Given the description of an element on the screen output the (x, y) to click on. 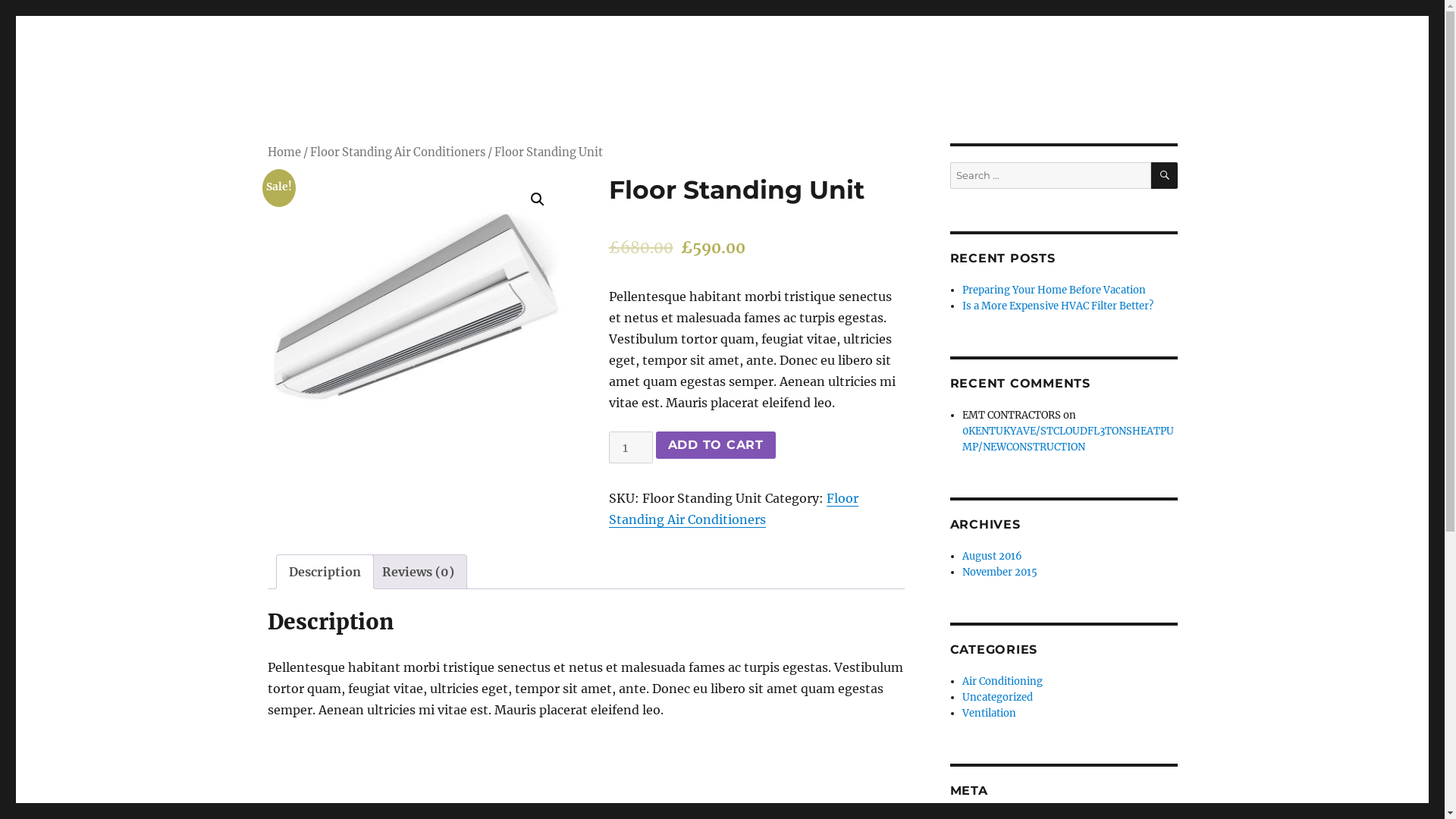
Description Element type: text (324, 571)
3MG Air Element type: text (310, 92)
November 2015 Element type: text (999, 571)
Ventilation Element type: text (989, 712)
Floor Standing Air Conditioners Element type: text (732, 508)
Reviews (0) Element type: text (418, 571)
ADD TO CART Element type: text (715, 444)
0KENTUKYAVE/STCLOUDFL3TONSHEATPUMP/NEWCONSTRUCTION Element type: text (1067, 438)
Home Element type: text (283, 152)
air-conditioner-3 Element type: hover (414, 321)
Floor Standing Air Conditioners Element type: text (396, 152)
August 2016 Element type: text (992, 555)
Air Conditioning Element type: text (1002, 680)
SEARCH Element type: text (1164, 175)
Is a More Expensive HVAC Filter Better? Element type: text (1057, 305)
Uncategorized Element type: text (997, 696)
Preparing Your Home Before Vacation Element type: text (1053, 289)
